Given the description of an element on the screen output the (x, y) to click on. 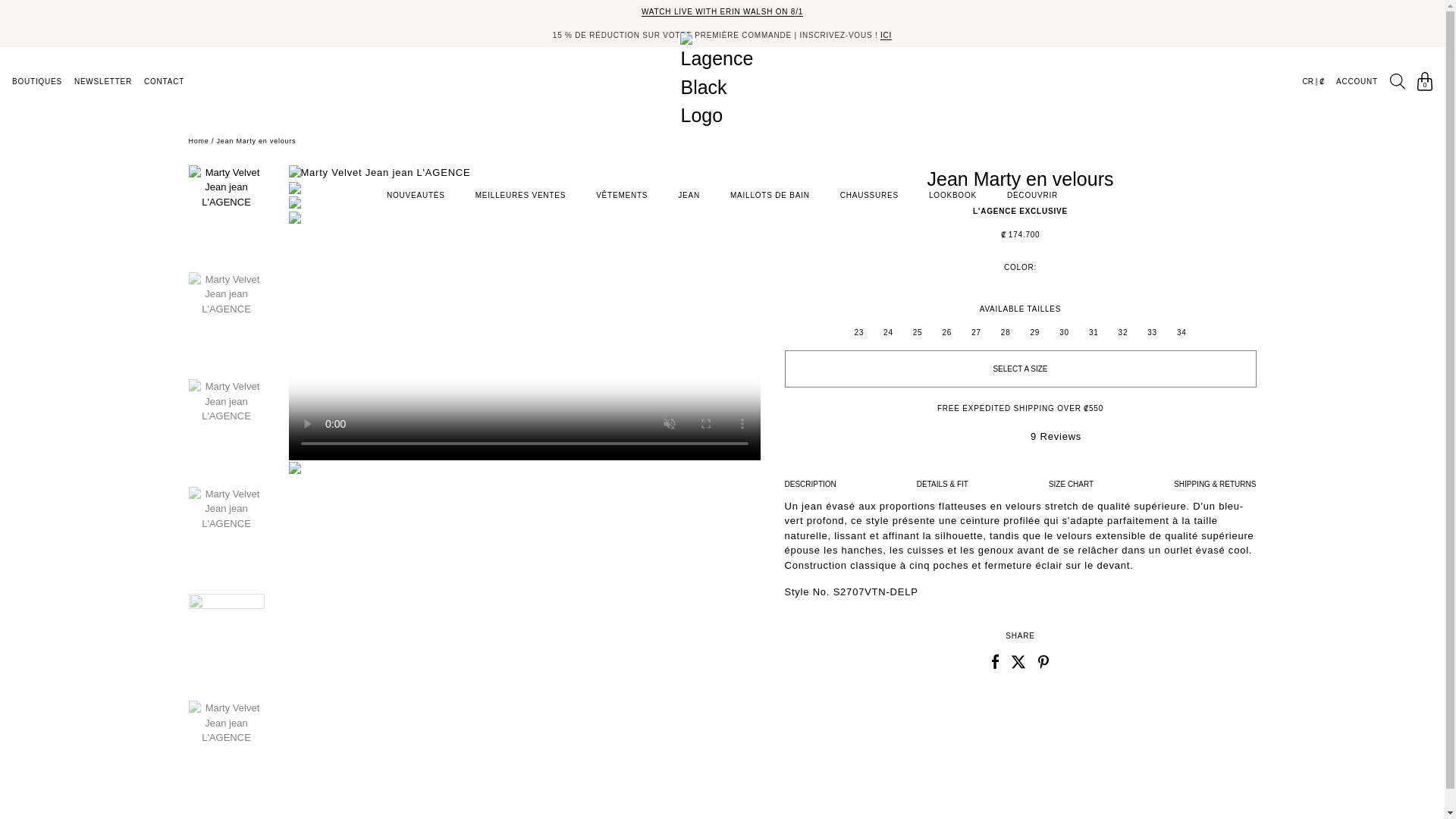
Contact (164, 81)
Magnifying Glass (1397, 81)
Newsletter (103, 81)
ICI (885, 35)
NEWSLETTER (103, 81)
Magnifying Glass (1397, 81)
Search (1397, 81)
CONTACT (164, 81)
